Given the description of an element on the screen output the (x, y) to click on. 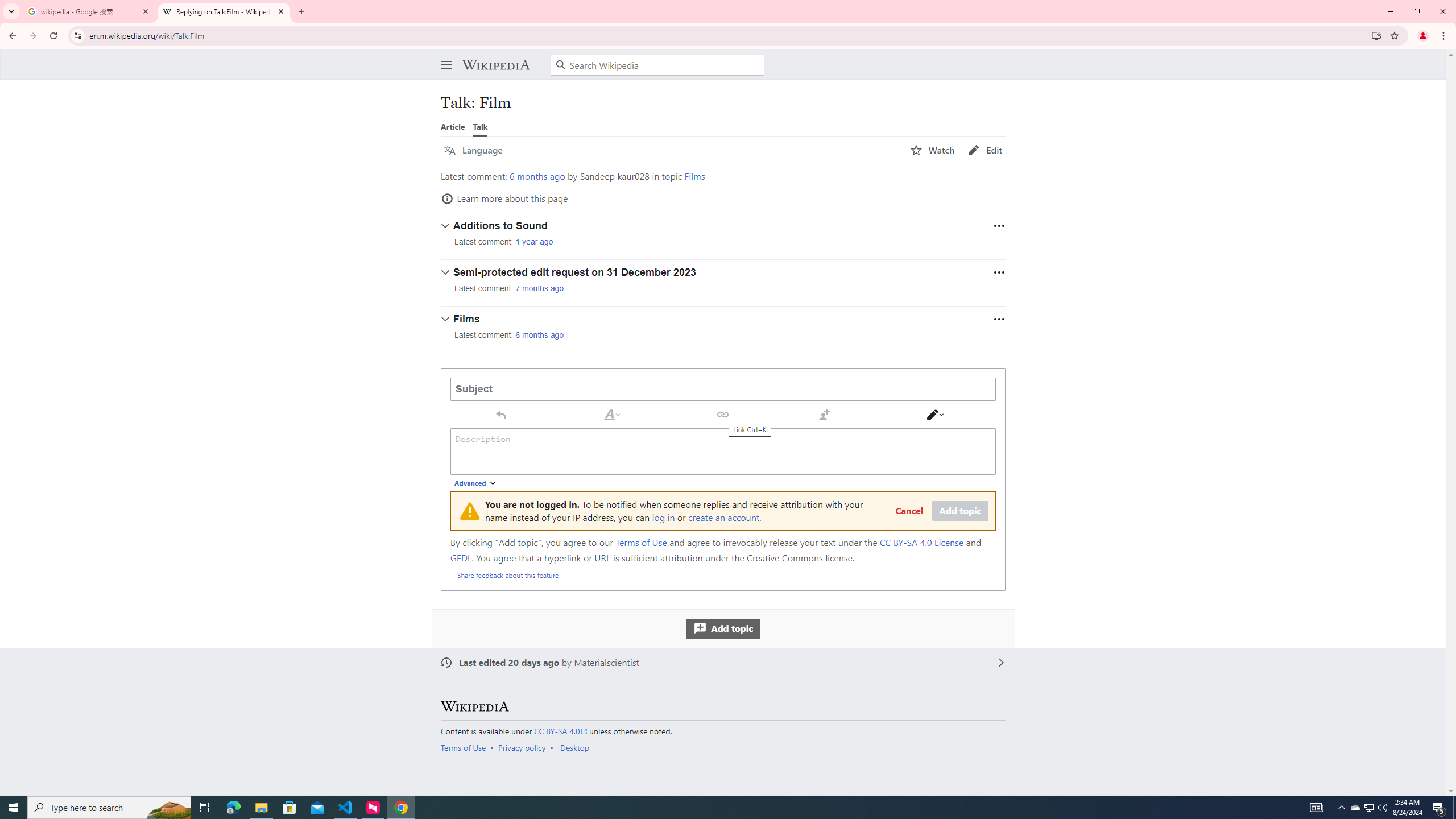
AutomationID: footer-places-desktop-toggle (576, 747)
Style text (611, 414)
